Given the description of an element on the screen output the (x, y) to click on. 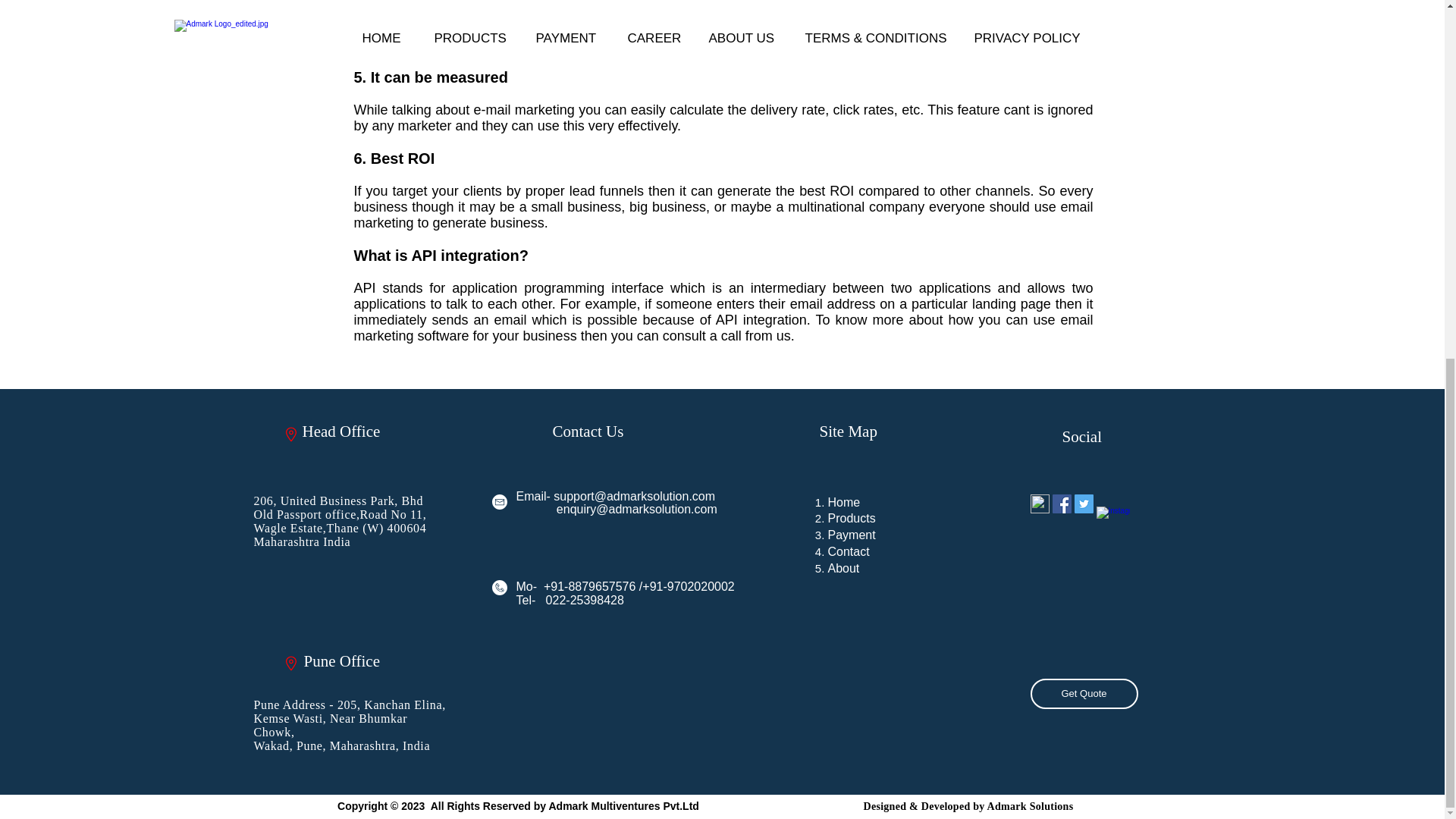
About (844, 567)
Contact (848, 551)
Get Quote (1083, 693)
Products (852, 517)
Tel-   022-25398428 (569, 599)
Home (844, 502)
Payment (852, 534)
